Given the description of an element on the screen output the (x, y) to click on. 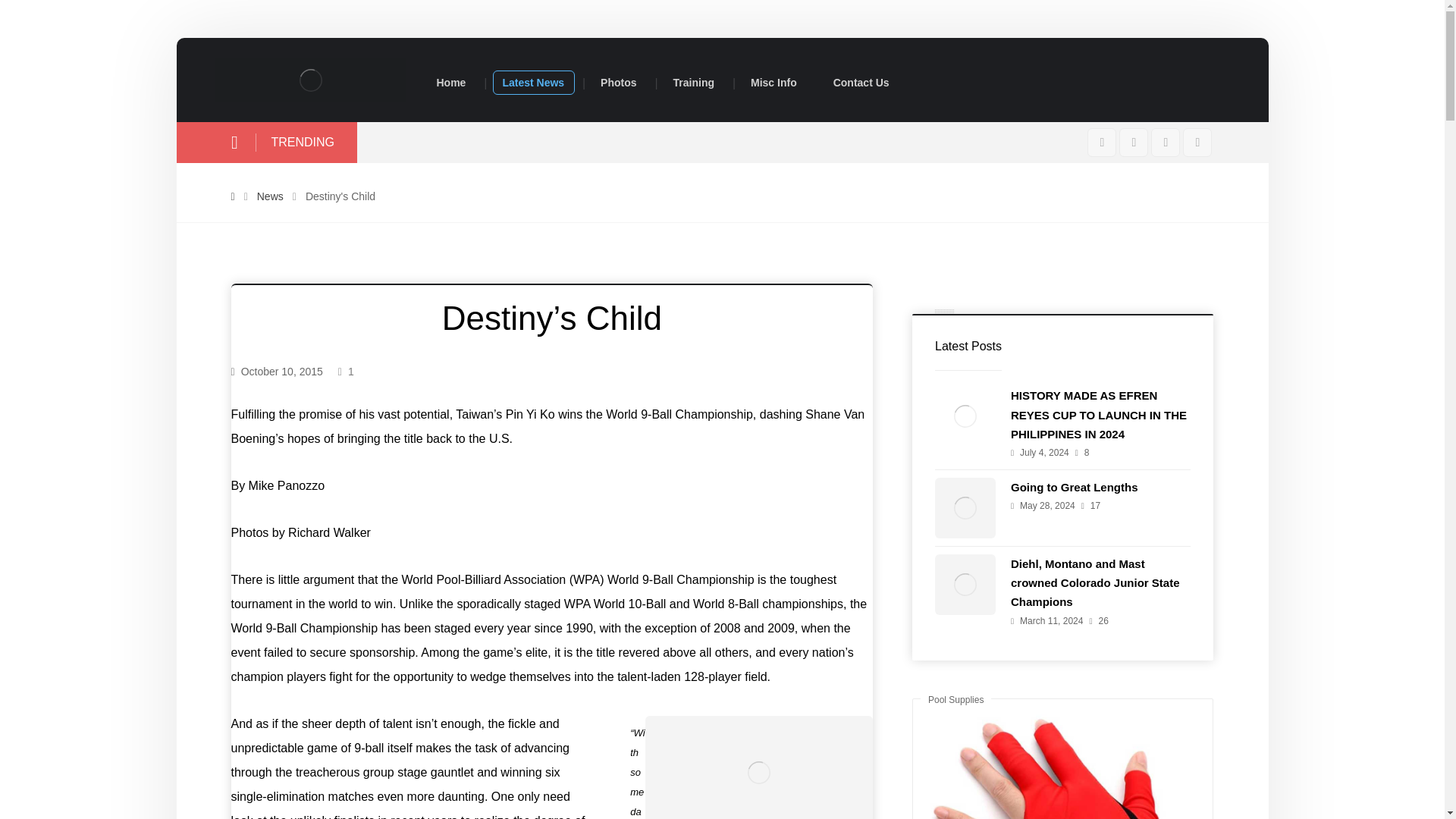
Training (693, 83)
Going to Great Lengths (964, 507)
Going to Great Lengths (1074, 486)
Home (452, 83)
Photos (618, 83)
Destiny's Child (340, 196)
Misc Info (773, 83)
News (270, 196)
